Given the description of an element on the screen output the (x, y) to click on. 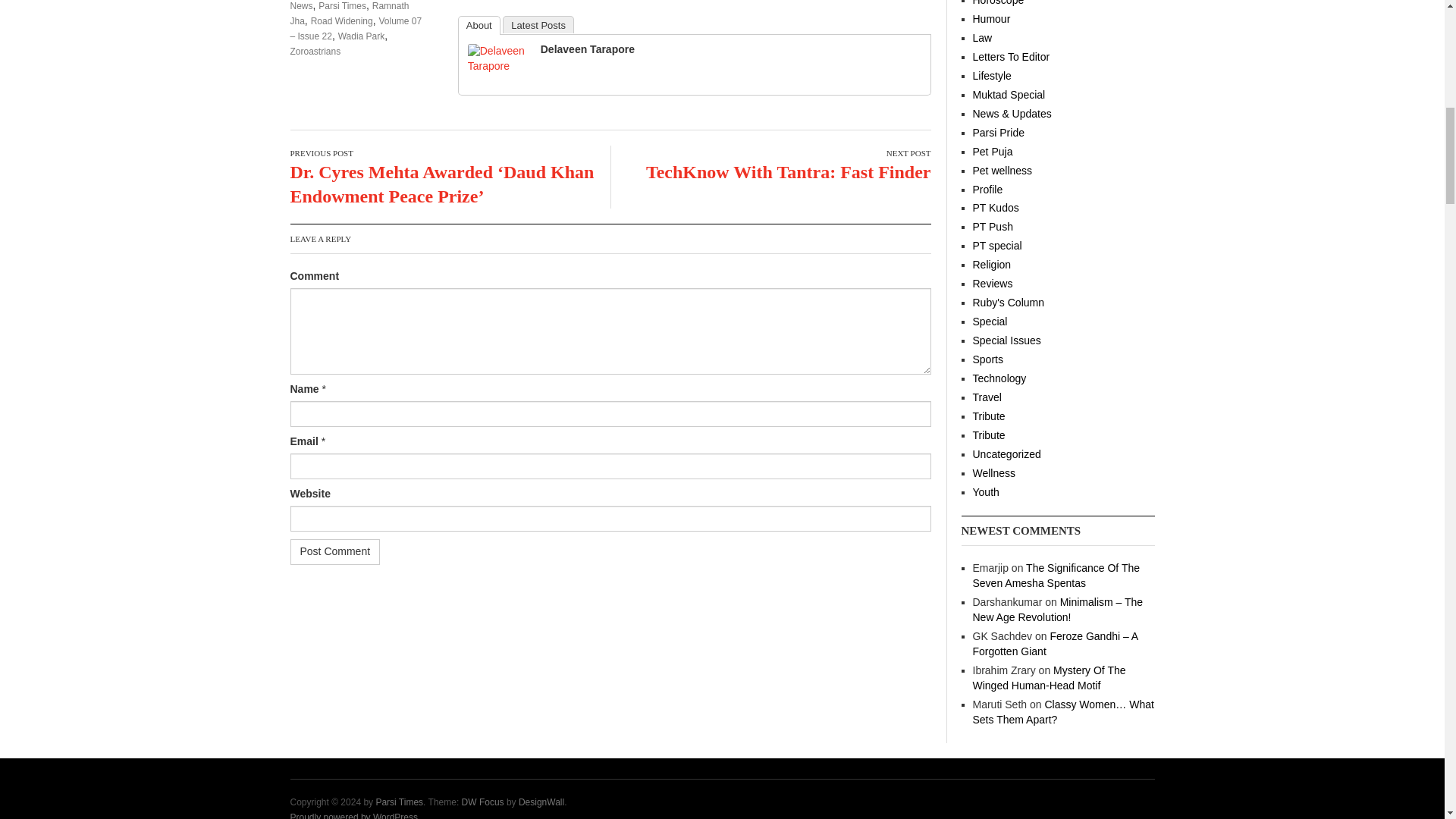
Delaveen Tarapore (497, 58)
WordPress News Theme (482, 801)
Post Comment (334, 551)
